Given the description of an element on the screen output the (x, y) to click on. 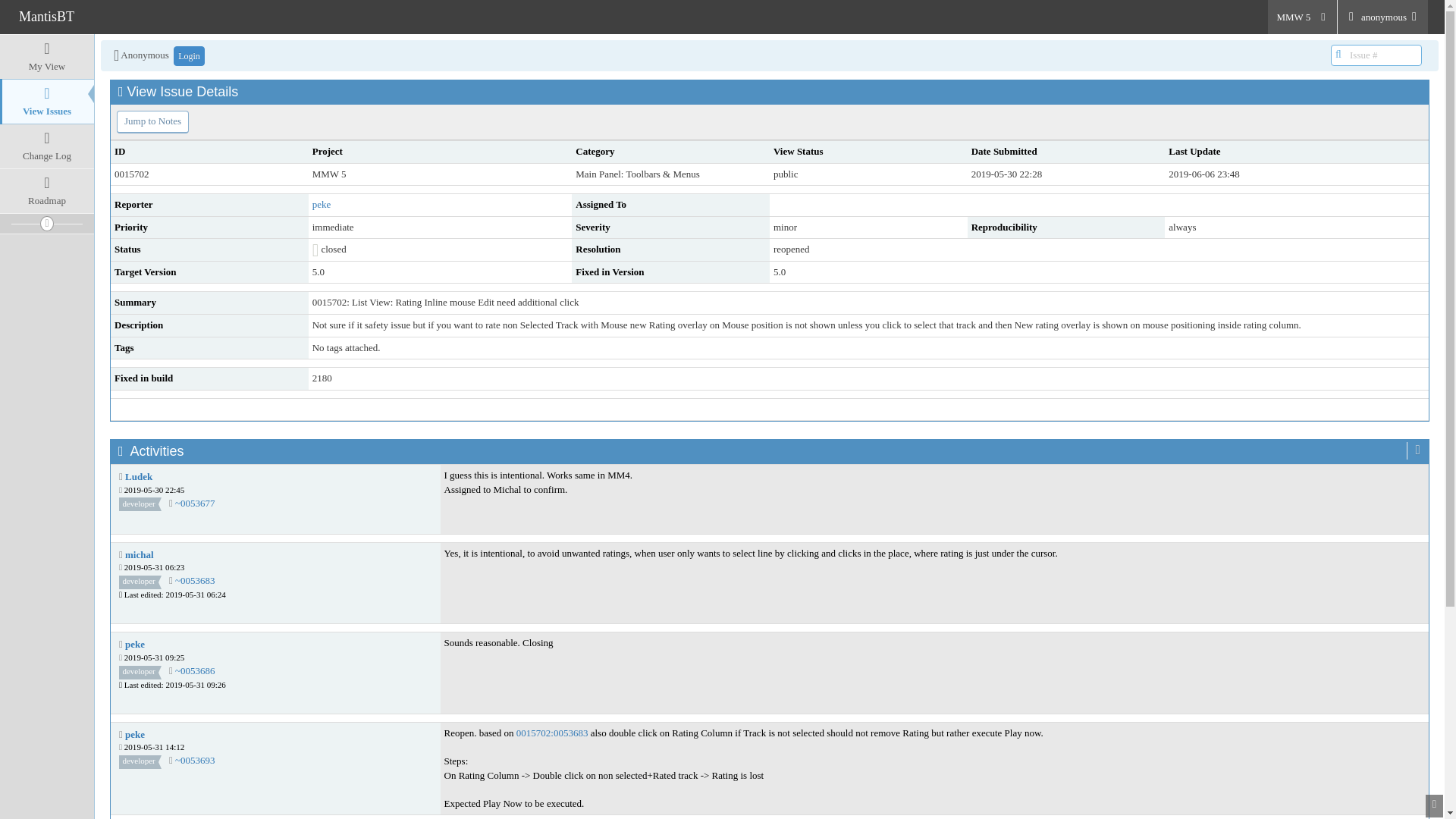
 MMW 5  (1302, 17)
Jump to Notes (152, 121)
MantisBT (46, 15)
Direct link to note (194, 580)
peke (322, 204)
Login (189, 55)
0015702:0053683 (552, 732)
Direct link to note (194, 670)
My View (47, 56)
michal (139, 554)
